Given the description of an element on the screen output the (x, y) to click on. 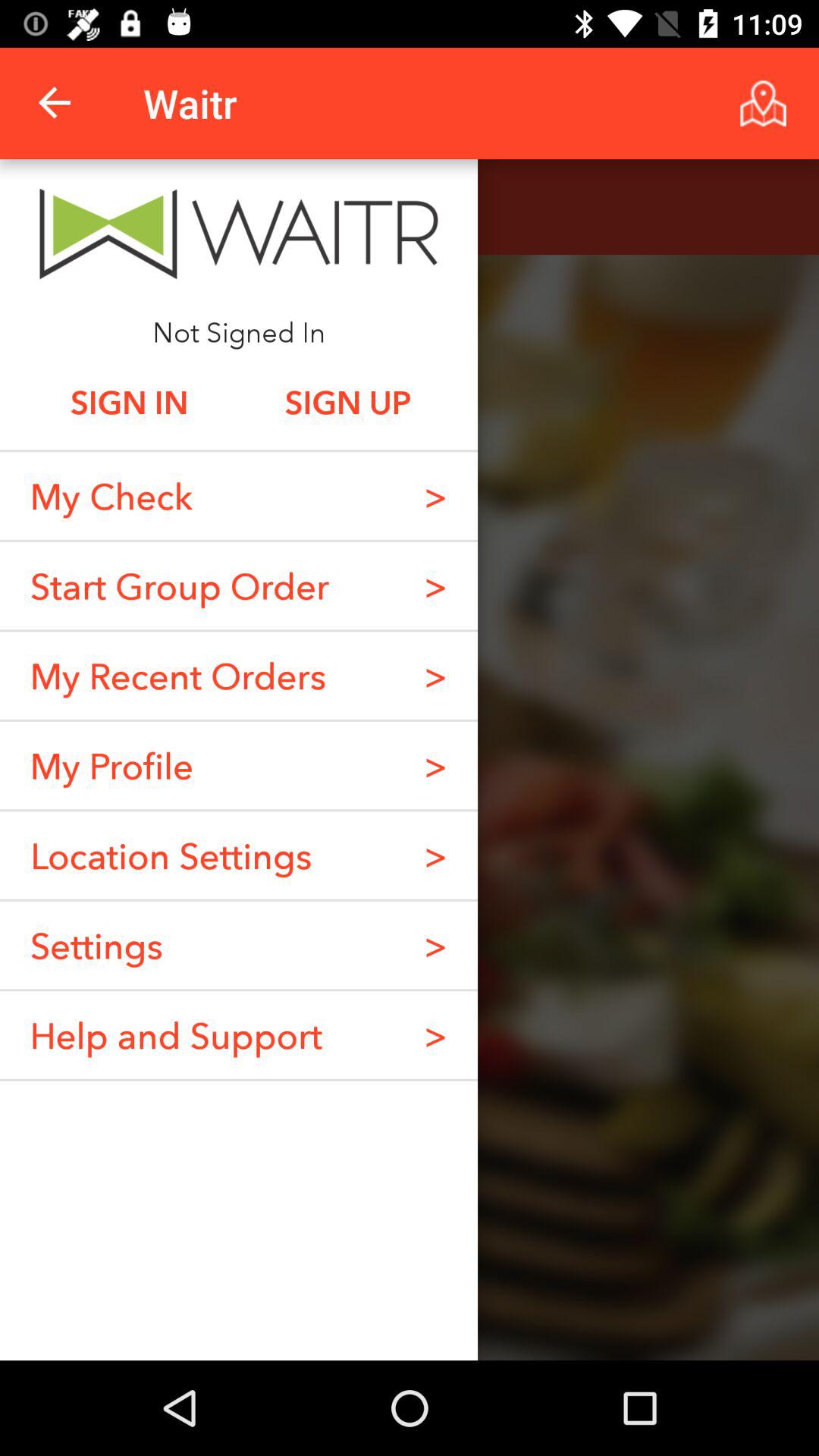
turn on item below the > item (435, 855)
